Given the description of an element on the screen output the (x, y) to click on. 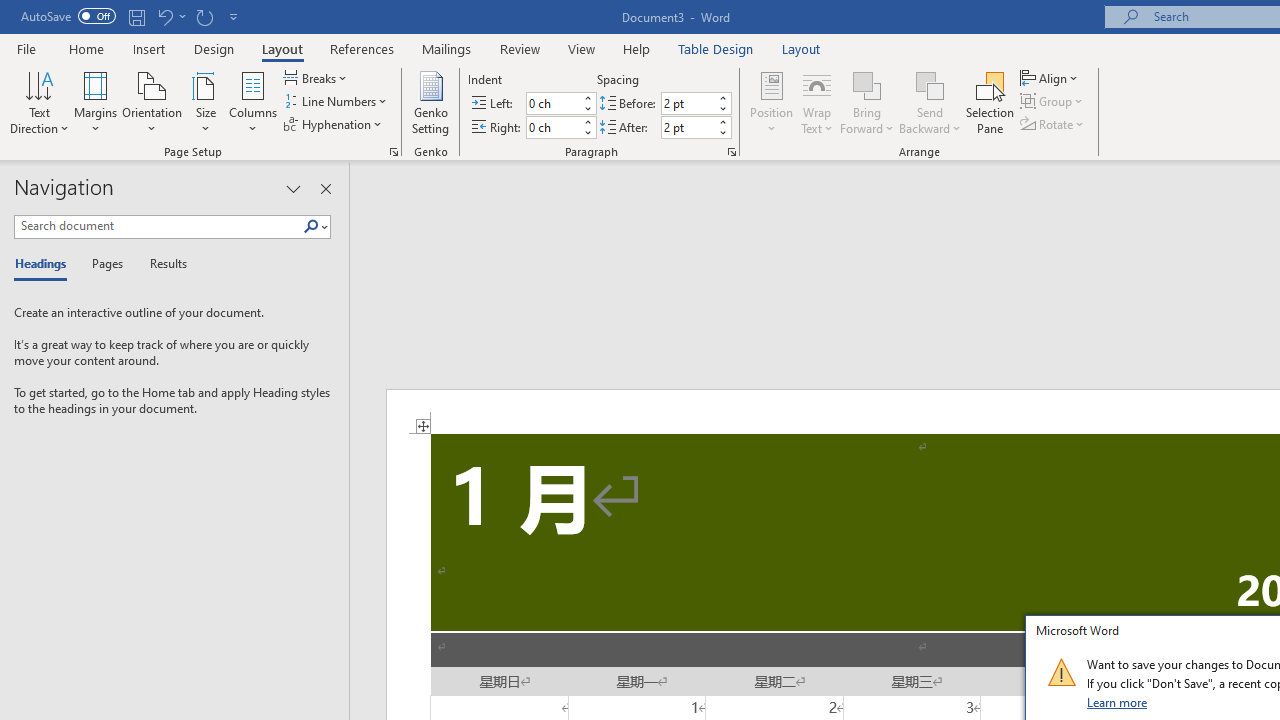
Indent Left (552, 103)
Spacing Before (687, 103)
Line Numbers (337, 101)
Bring Forward (867, 84)
Hyphenation (334, 124)
Position (771, 102)
